Given the description of an element on the screen output the (x, y) to click on. 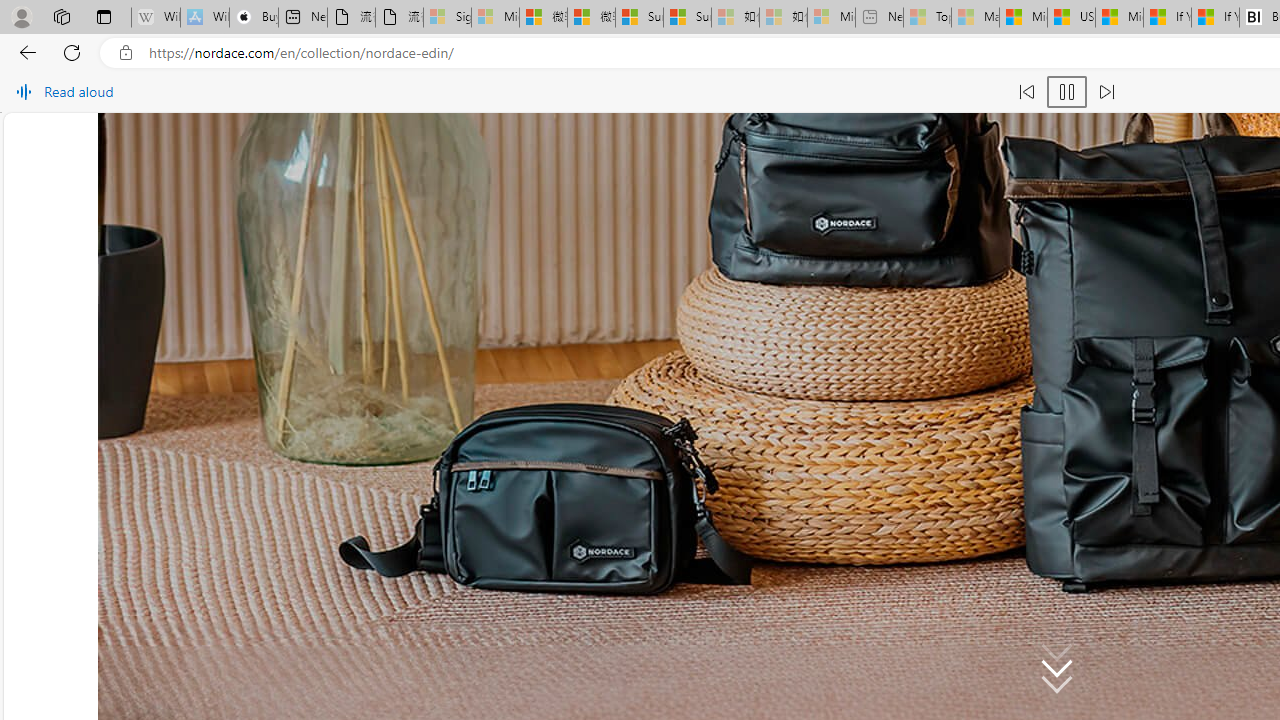
Pause read aloud (Ctrl+Shift+U) (1065, 92)
Read next paragraph (1105, 92)
Top Stories - MSN - Sleeping (927, 17)
